Given the description of an element on the screen output the (x, y) to click on. 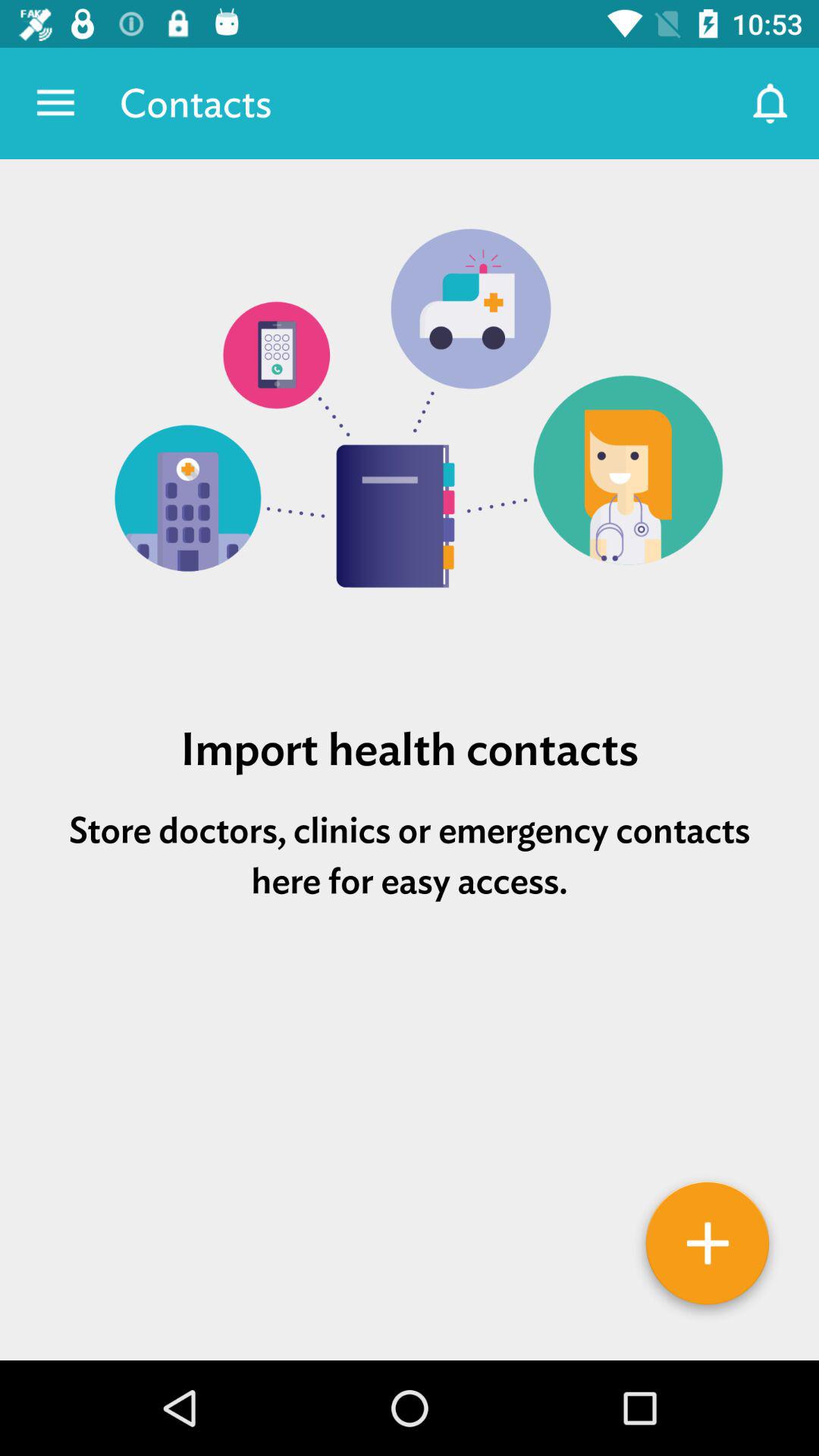
tap icon above import health contacts item (409, 424)
